Given the description of an element on the screen output the (x, y) to click on. 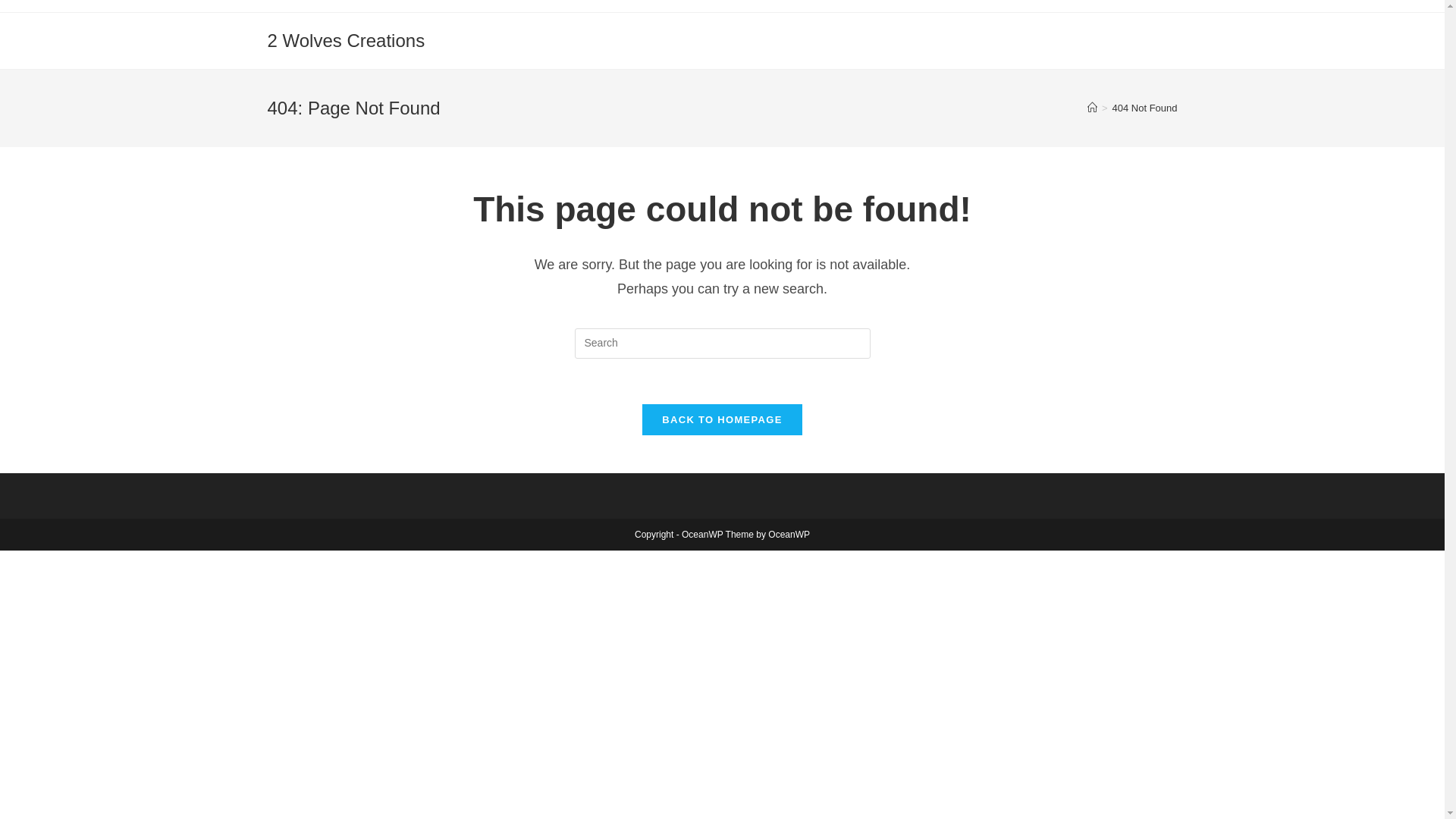
404 Not Found Element type: text (1143, 107)
2 Wolves Creations Element type: text (345, 40)
BACK TO HOMEPAGE Element type: text (721, 419)
